Given the description of an element on the screen output the (x, y) to click on. 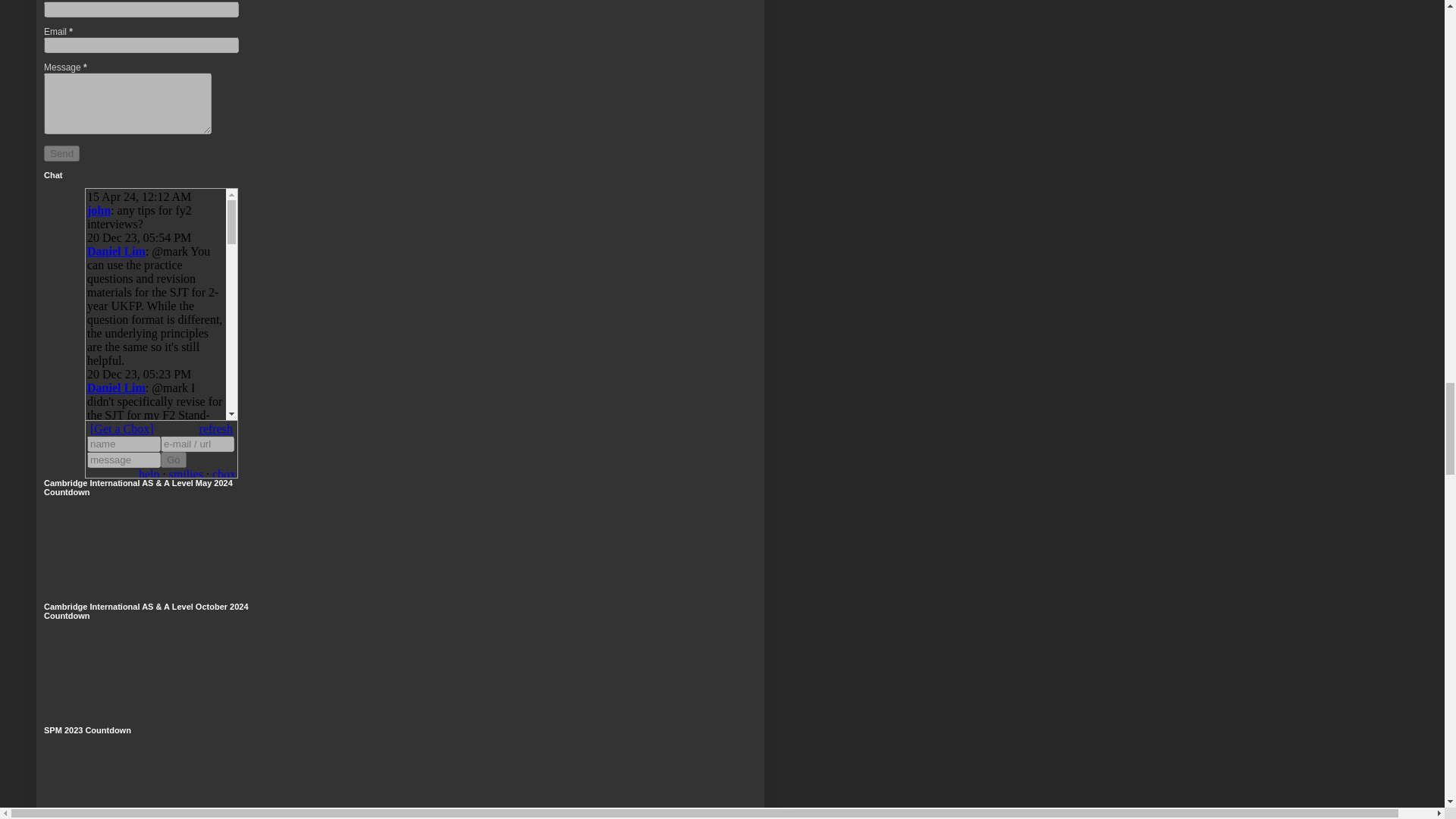
Send (61, 153)
